Given the description of an element on the screen output the (x, y) to click on. 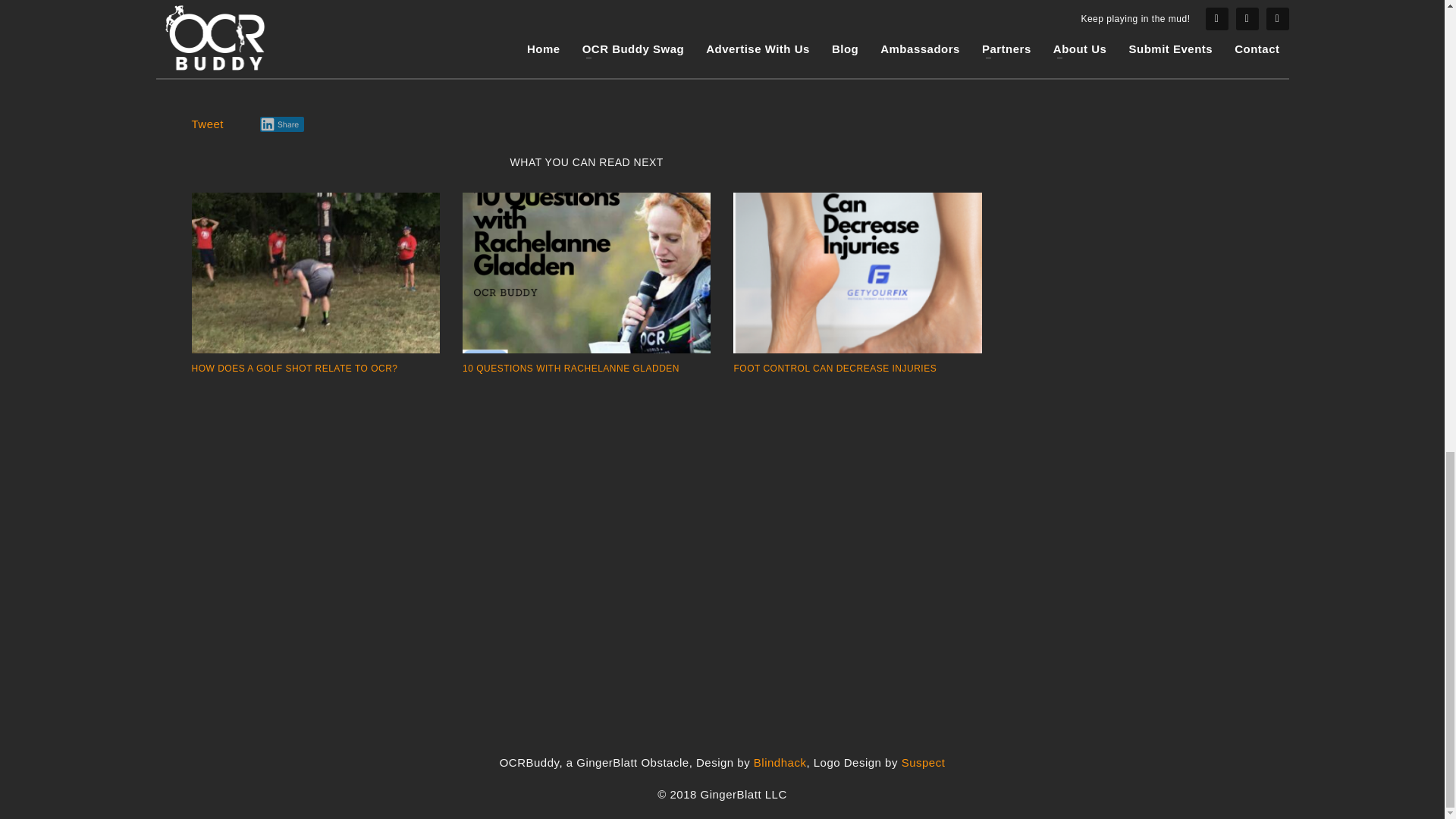
10 QUESTIONS WITH RACHELANNE GLADDEN (571, 368)
HOW DOES A GOLF SHOT RELATE TO OCR? (293, 368)
Tweet (207, 123)
OCRGolf (314, 272)
10 Questions with Rachelanne Gladden (586, 272)
FOOT CONTROL CAN DECREASE INJURIES (834, 368)
Share (281, 124)
